Given the description of an element on the screen output the (x, y) to click on. 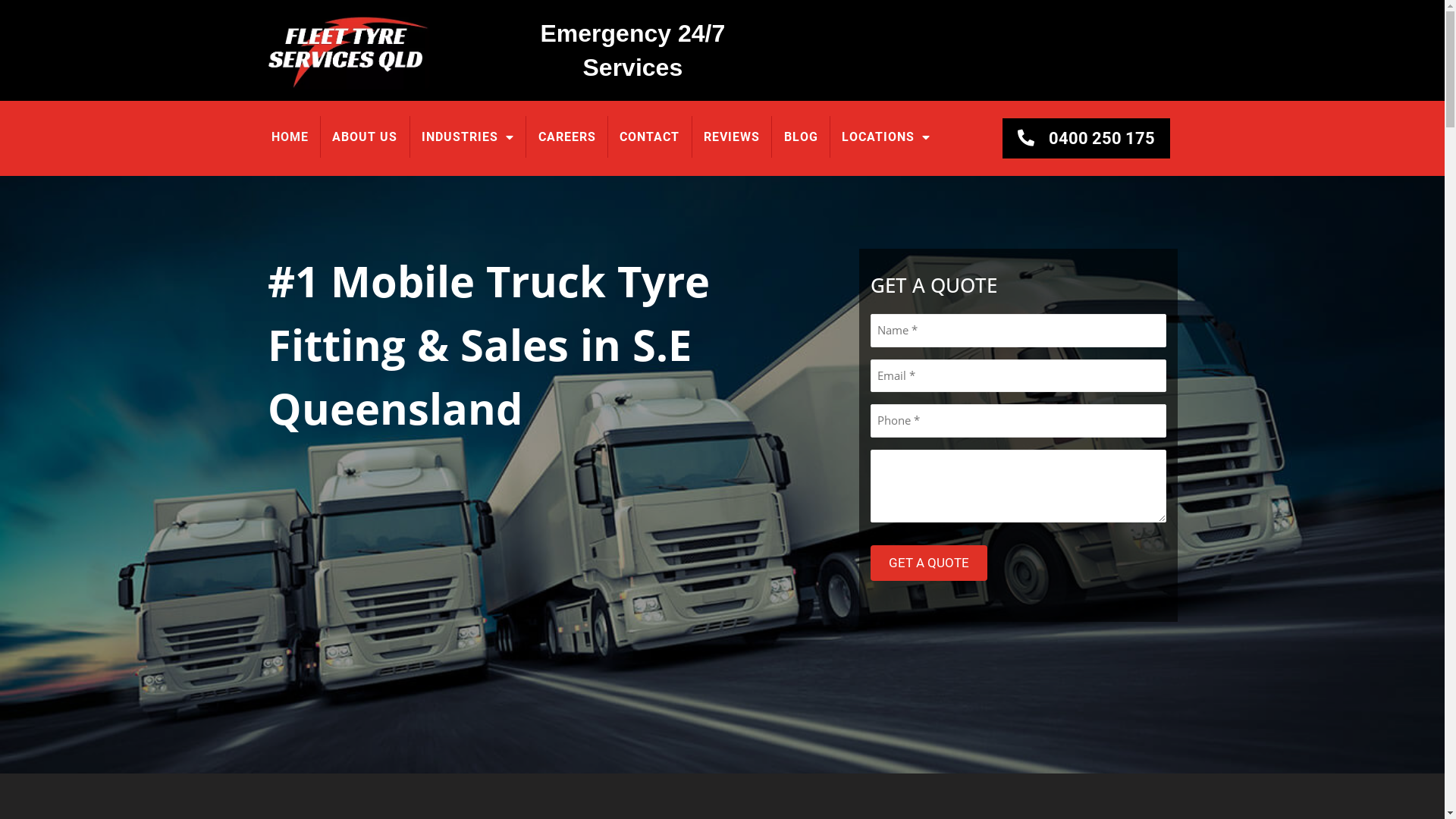
INDUSTRIES Element type: text (468, 136)
HOME Element type: text (289, 136)
ABOUT US Element type: text (364, 136)
CAREERS Element type: text (566, 136)
logo1 | Mobile Truck Tyre Repairs & Sales | Element type: hover (348, 50)
CONTACT Element type: text (649, 136)
0400 250 175 Element type: text (1086, 138)
REVIEWS Element type: text (731, 136)
BLOG Element type: text (800, 136)
LOCATIONS Element type: text (886, 136)
GET A QUOTE Element type: text (928, 562)
